Given the description of an element on the screen output the (x, y) to click on. 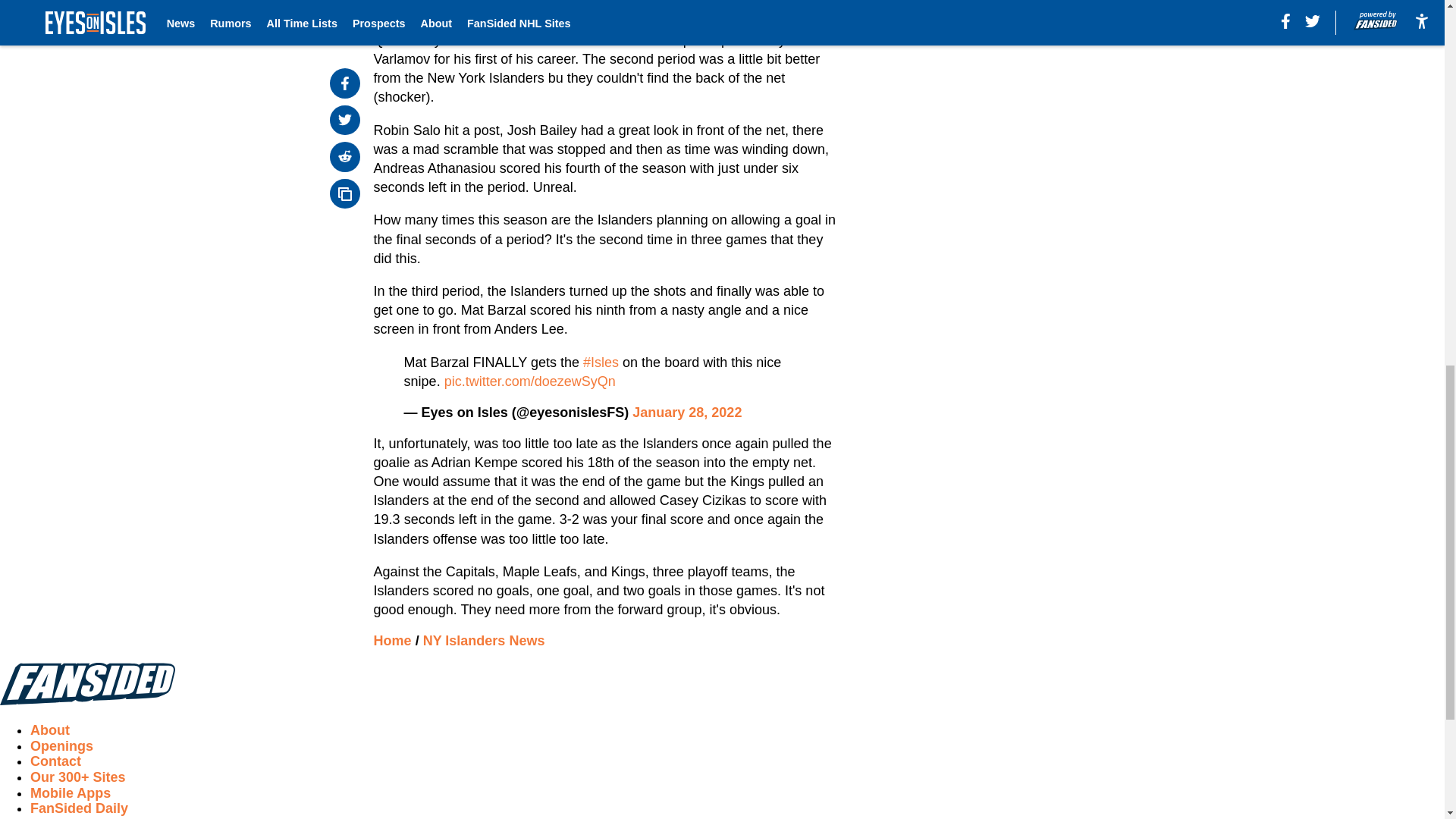
Openings (61, 745)
NY Islanders News (483, 640)
Contact (55, 761)
About (49, 729)
FanSided Daily (79, 807)
Home (393, 640)
Mobile Apps (70, 792)
January 28, 2022 (686, 412)
